Given the description of an element on the screen output the (x, y) to click on. 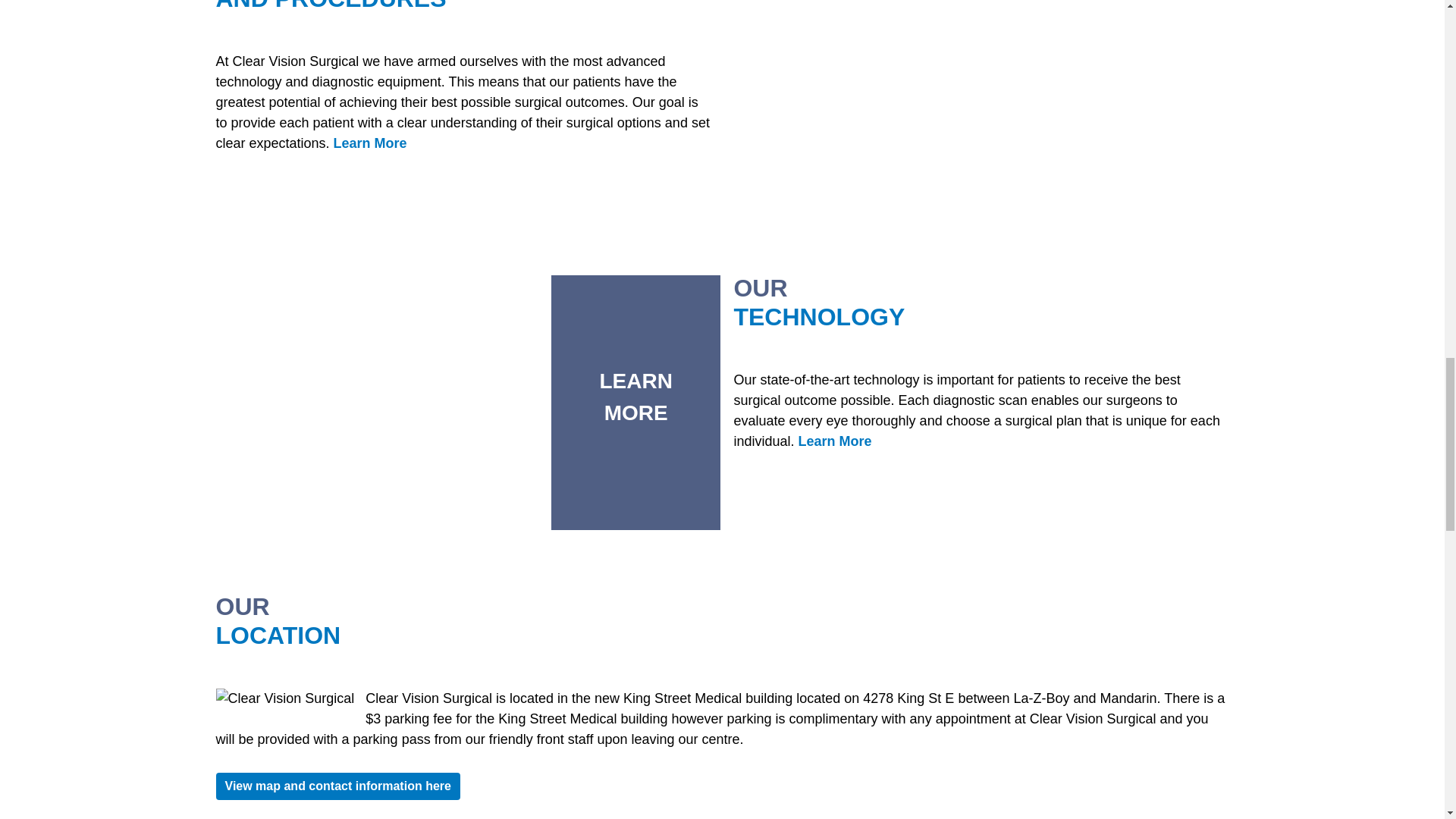
View map and contact information here (337, 786)
Learn More (636, 399)
Learn More (370, 142)
